Given the description of an element on the screen output the (x, y) to click on. 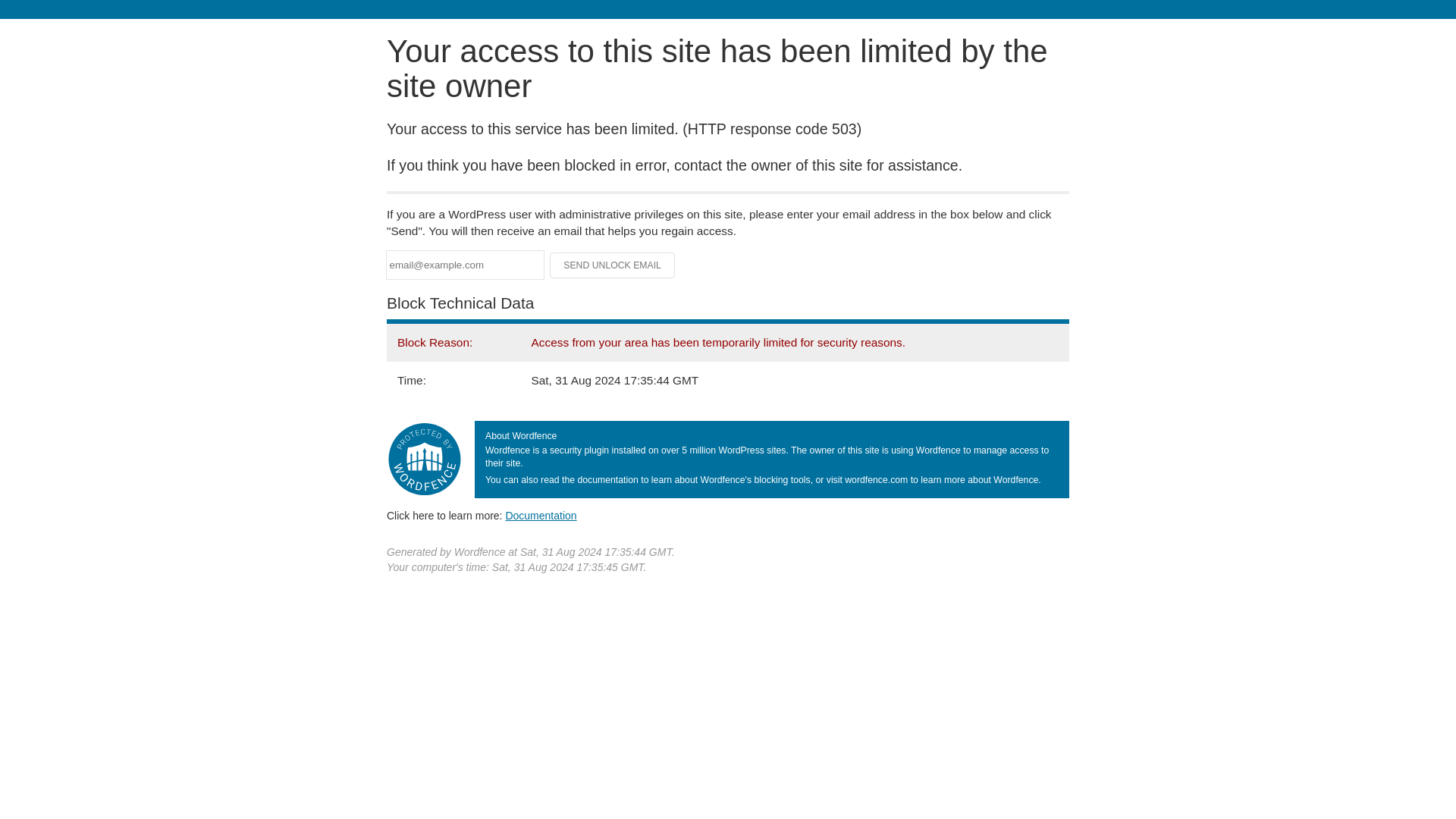
Send Unlock Email (612, 265)
Documentation (540, 515)
Send Unlock Email (612, 265)
